Given the description of an element on the screen output the (x, y) to click on. 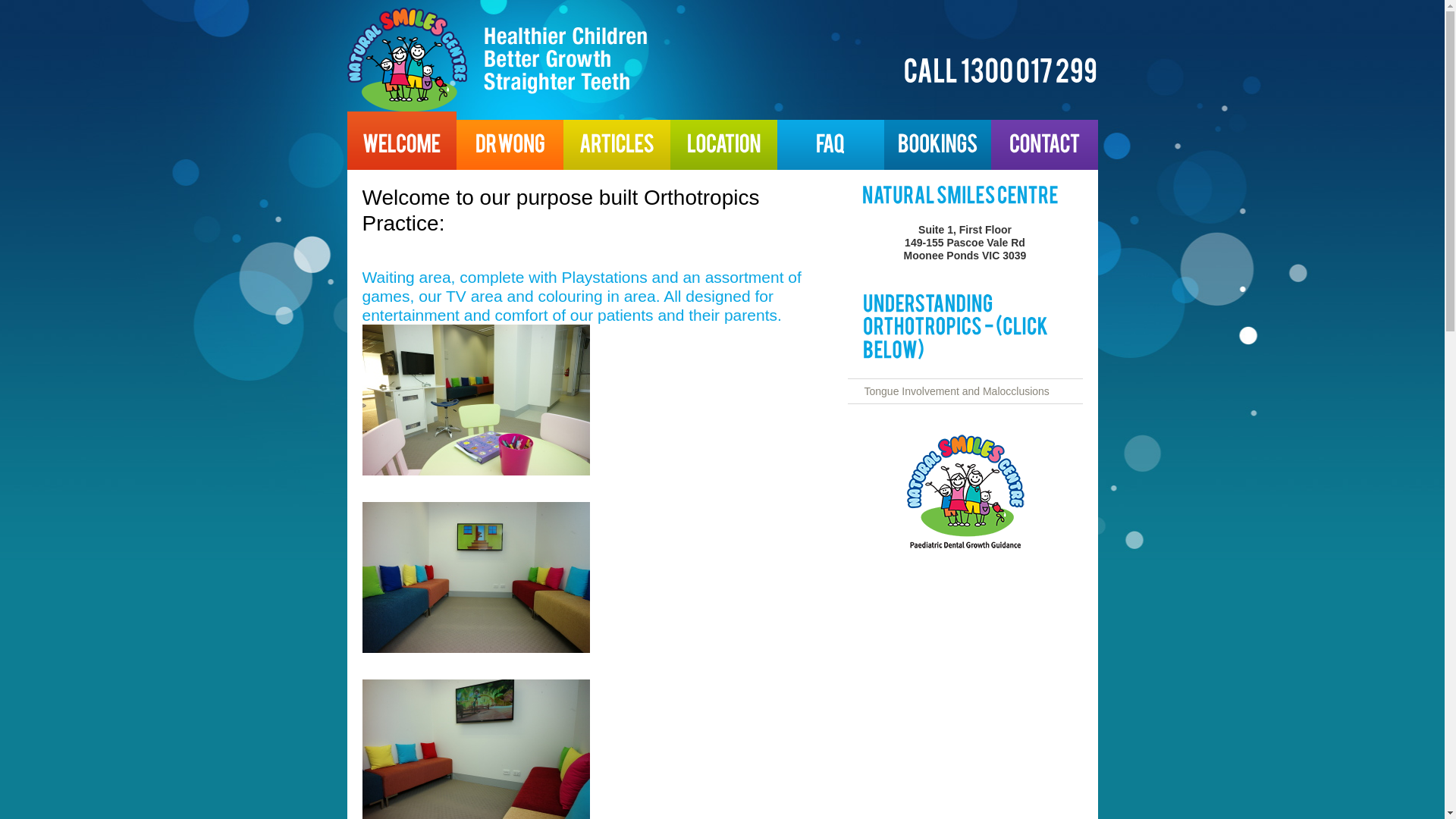
Tongue Involvement and Malocclusions Element type: text (956, 391)
